Given the description of an element on the screen output the (x, y) to click on. 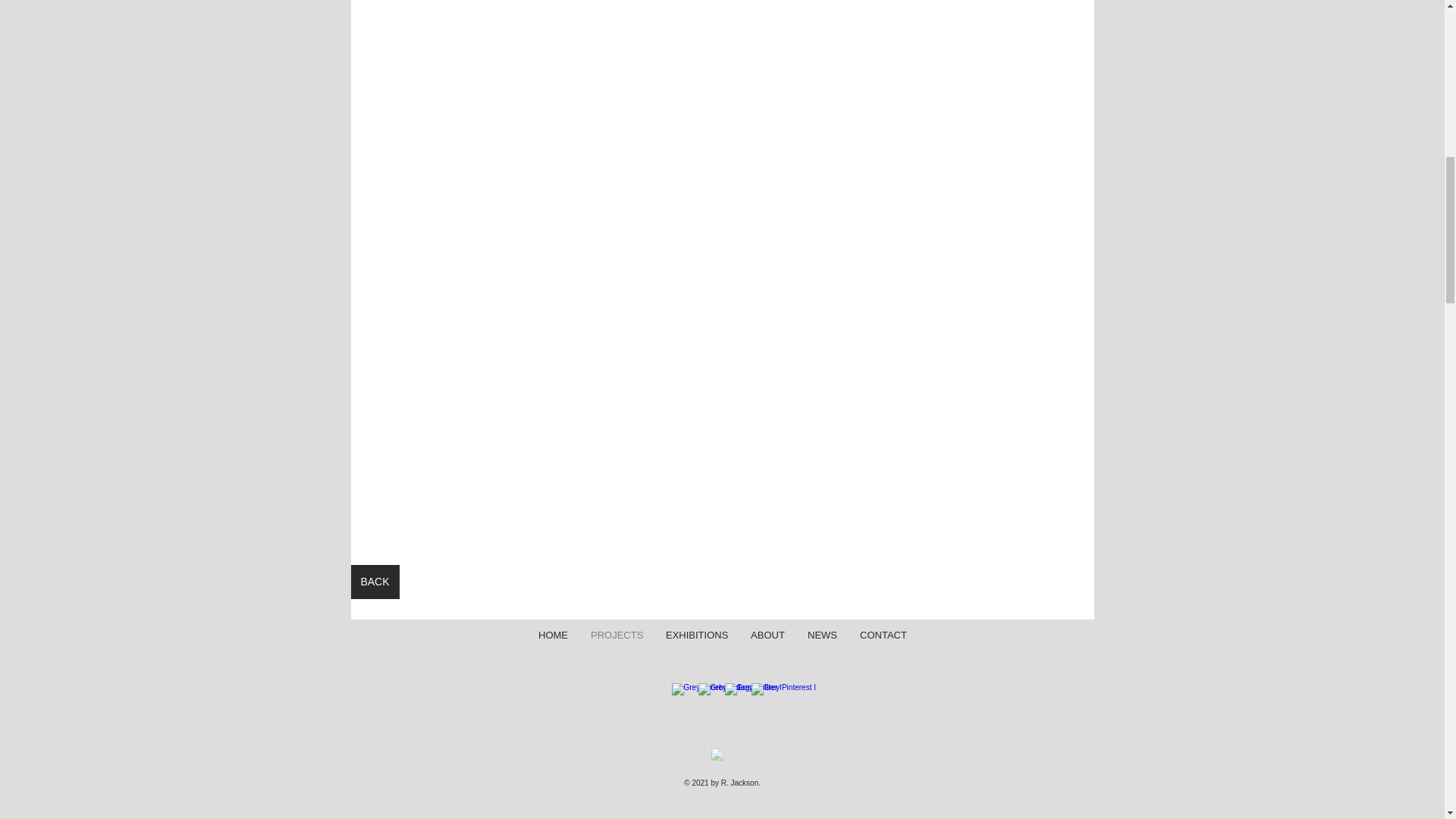
PROJECTS (616, 634)
BACK (374, 581)
HOME (553, 634)
